Given the description of an element on the screen output the (x, y) to click on. 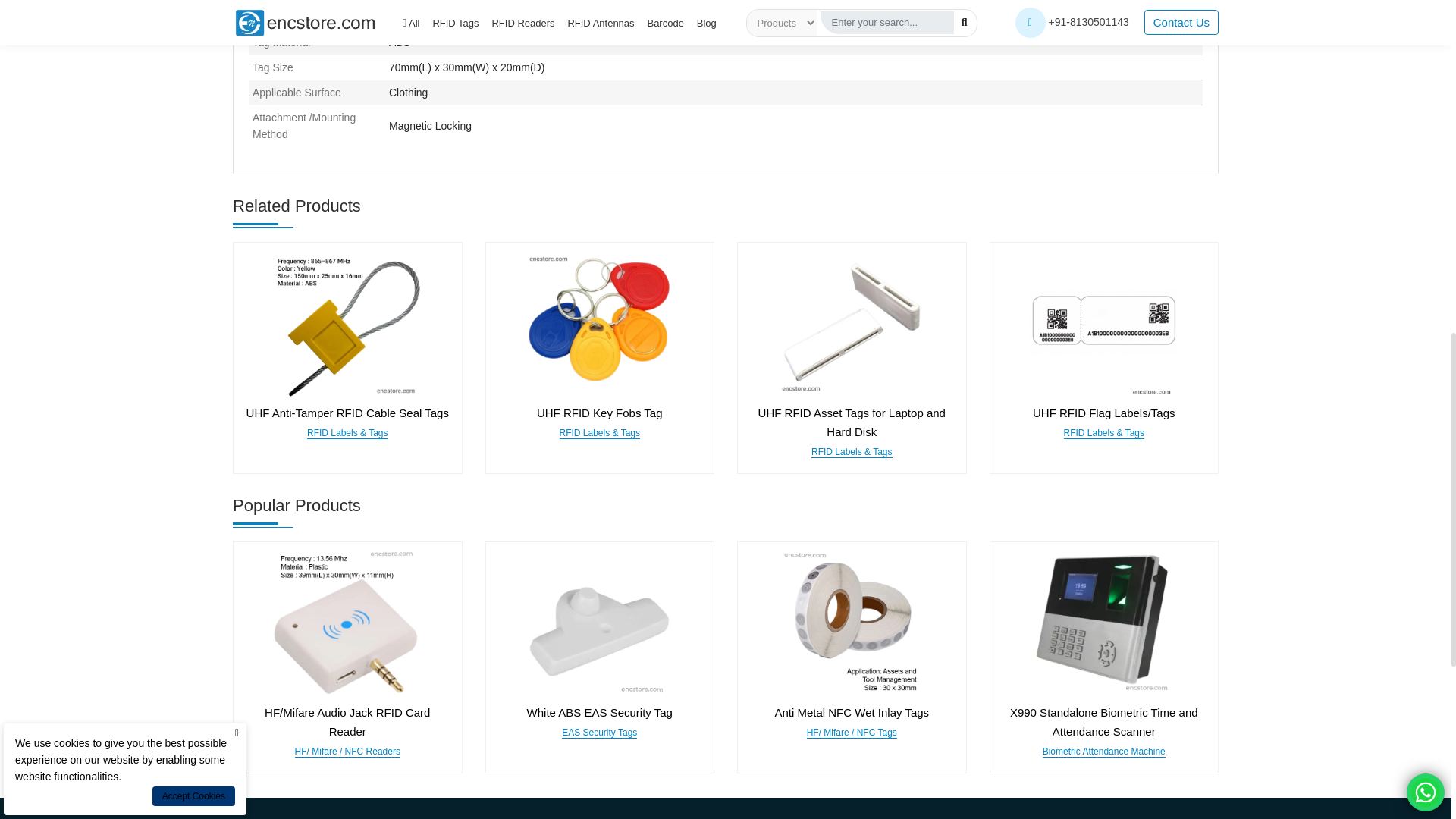
UHF RFID Tags (851, 322)
Biometric Attendance Machine (1103, 621)
White ABS EAS Security Tag (599, 621)
Submit (885, 581)
UHF RFID Tags (1103, 322)
UHF RFID Tags (347, 322)
UHF RFID Key Fobs Tags (599, 322)
